Given the description of an element on the screen output the (x, y) to click on. 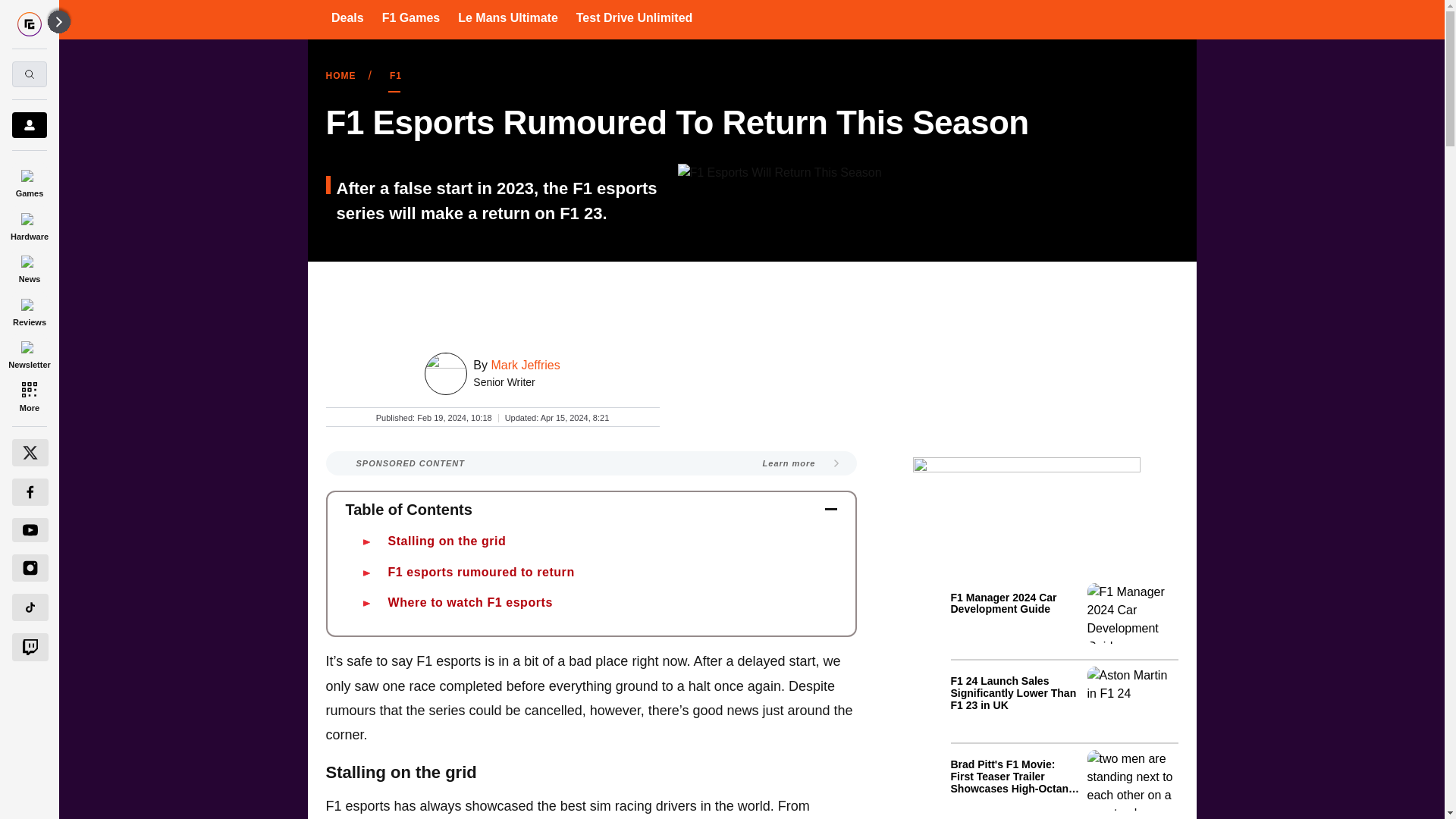
News (28, 266)
Newsletter (28, 352)
More (28, 395)
Reviews (28, 309)
Test Drive Unlimited (634, 18)
Games (28, 180)
F1 Games (410, 18)
Hardware (28, 224)
Latest News (1063, 697)
Deals (347, 18)
Le Mans Ultimate (507, 18)
